Given the description of an element on the screen output the (x, y) to click on. 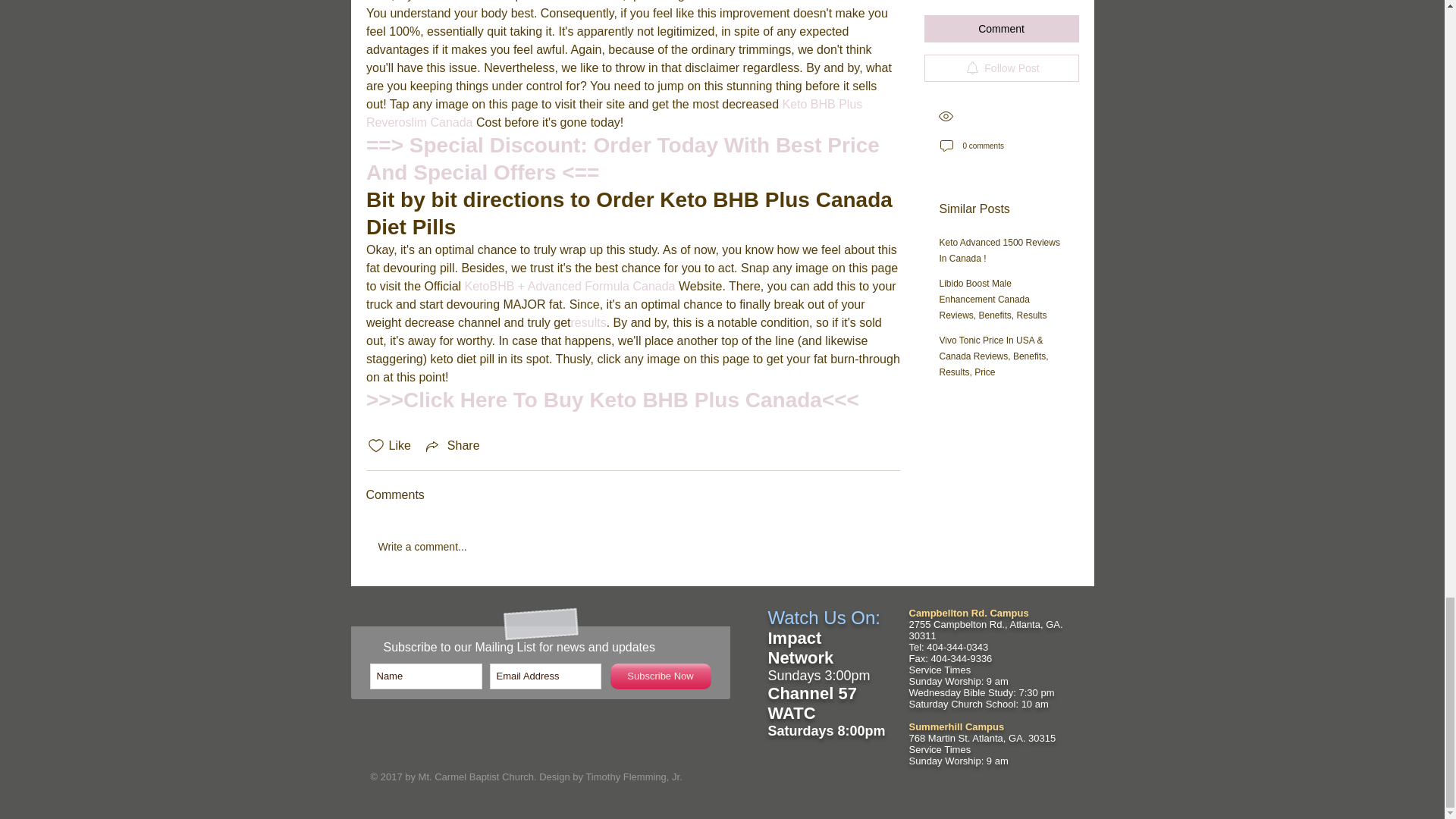
results (587, 322)
 Keto BHB Plus Reveroslim Canada (614, 112)
Share (451, 445)
Write a comment... (632, 546)
